Given the description of an element on the screen output the (x, y) to click on. 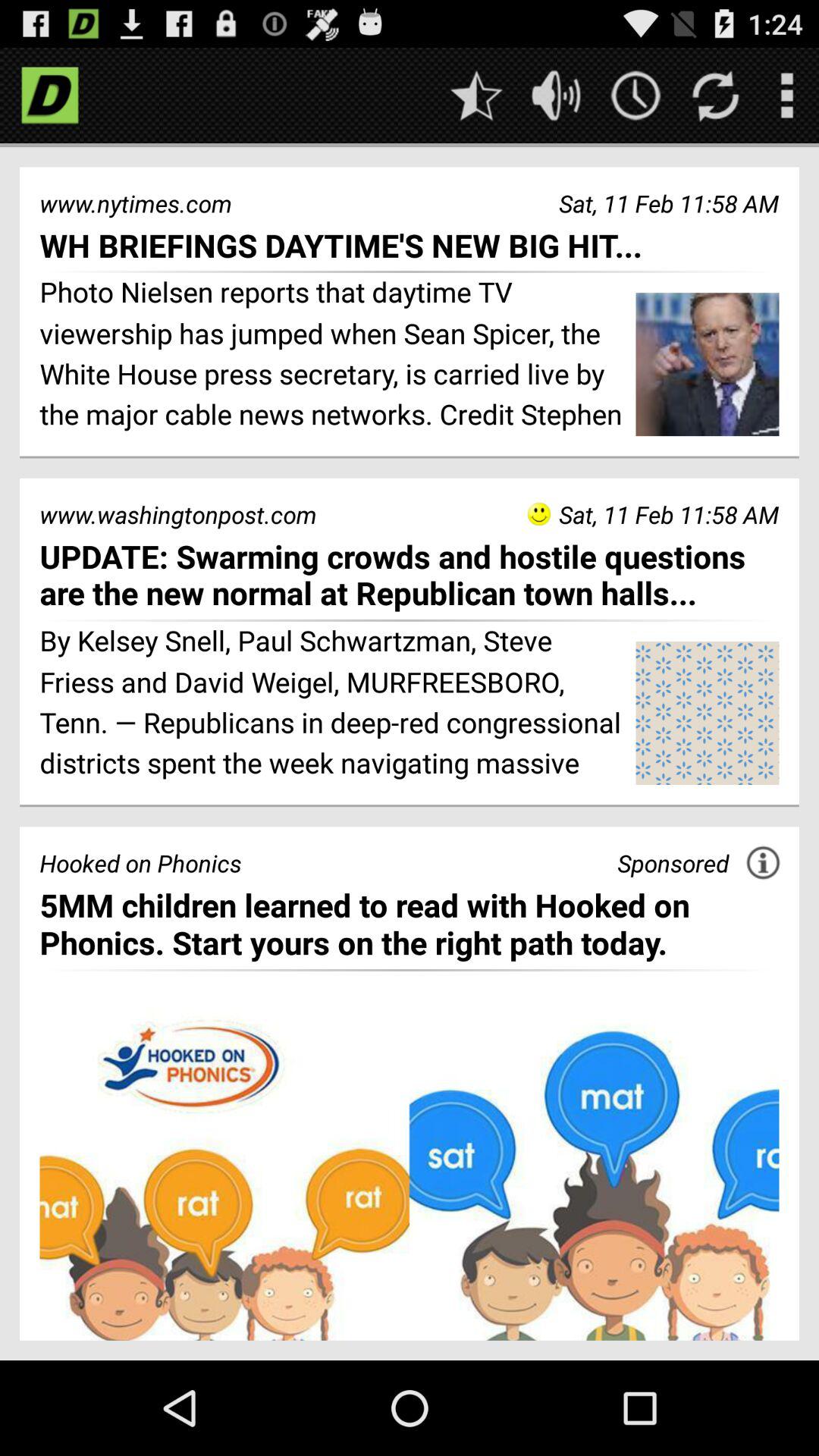
jump to photo nielsen reports (332, 356)
